Given the description of an element on the screen output the (x, y) to click on. 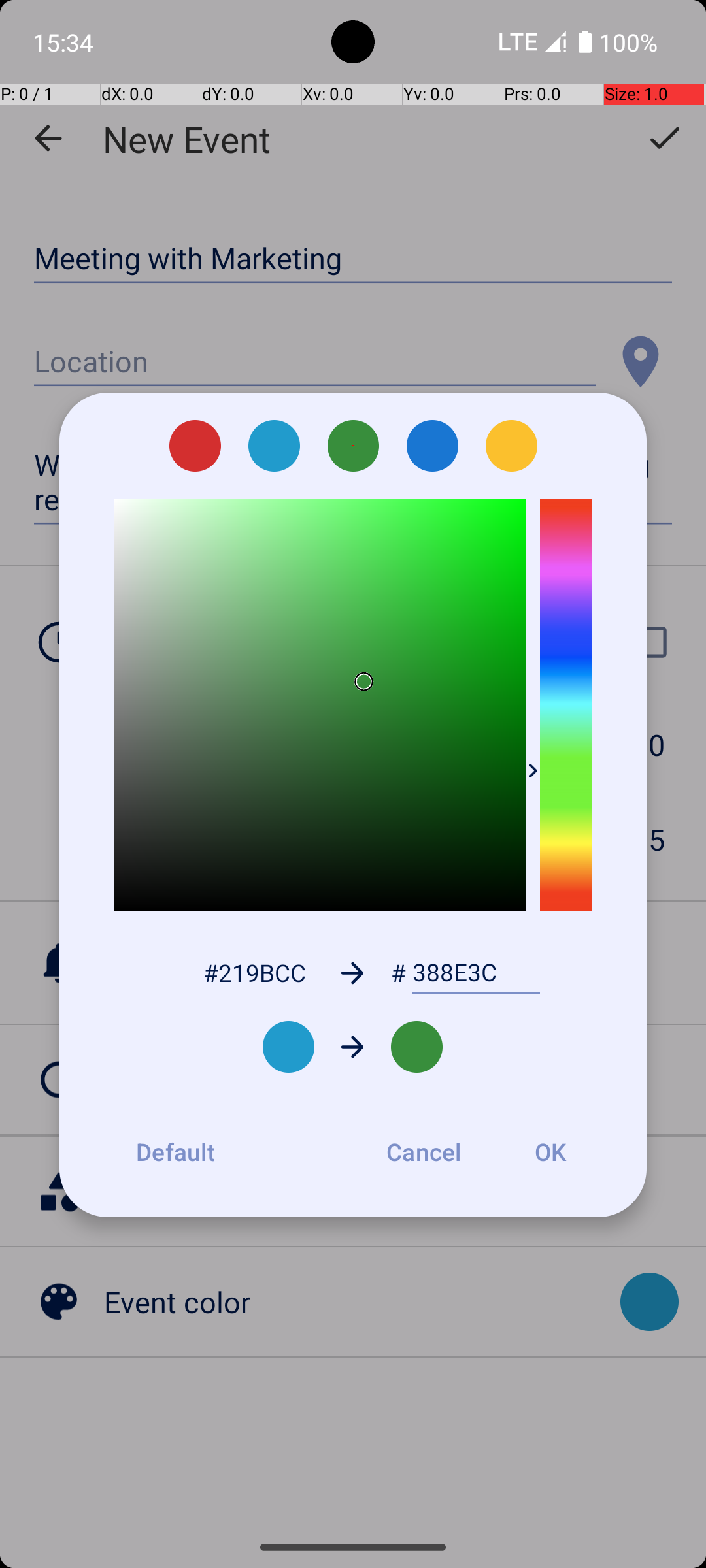
#219BCC Element type: android.widget.TextView (254, 972)
388E3C Element type: android.widget.EditText (475, 972)
Default Element type: android.widget.Button (174, 1151)
